Given the description of an element on the screen output the (x, y) to click on. 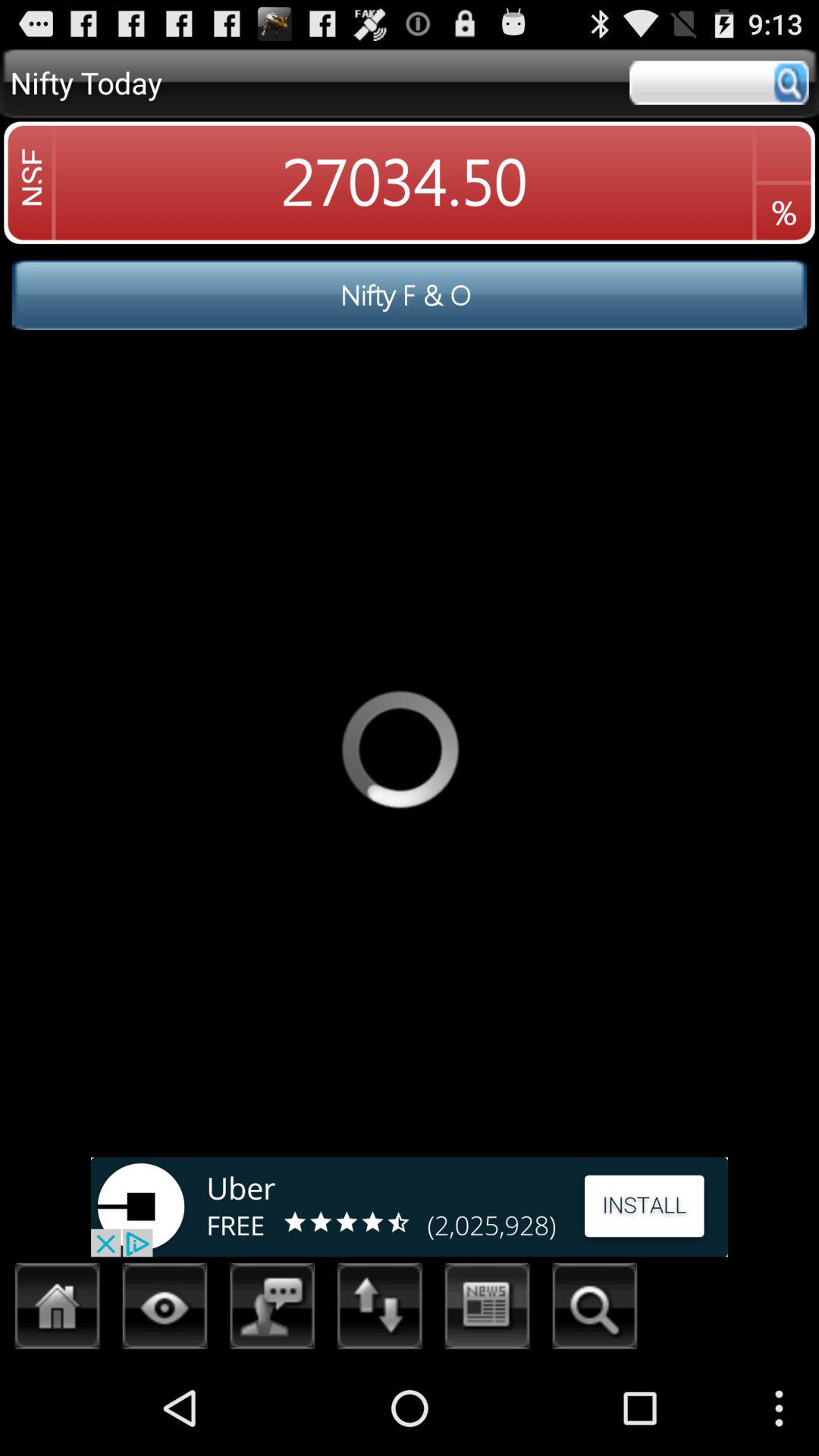
reorder list (379, 1310)
